Given the description of an element on the screen output the (x, y) to click on. 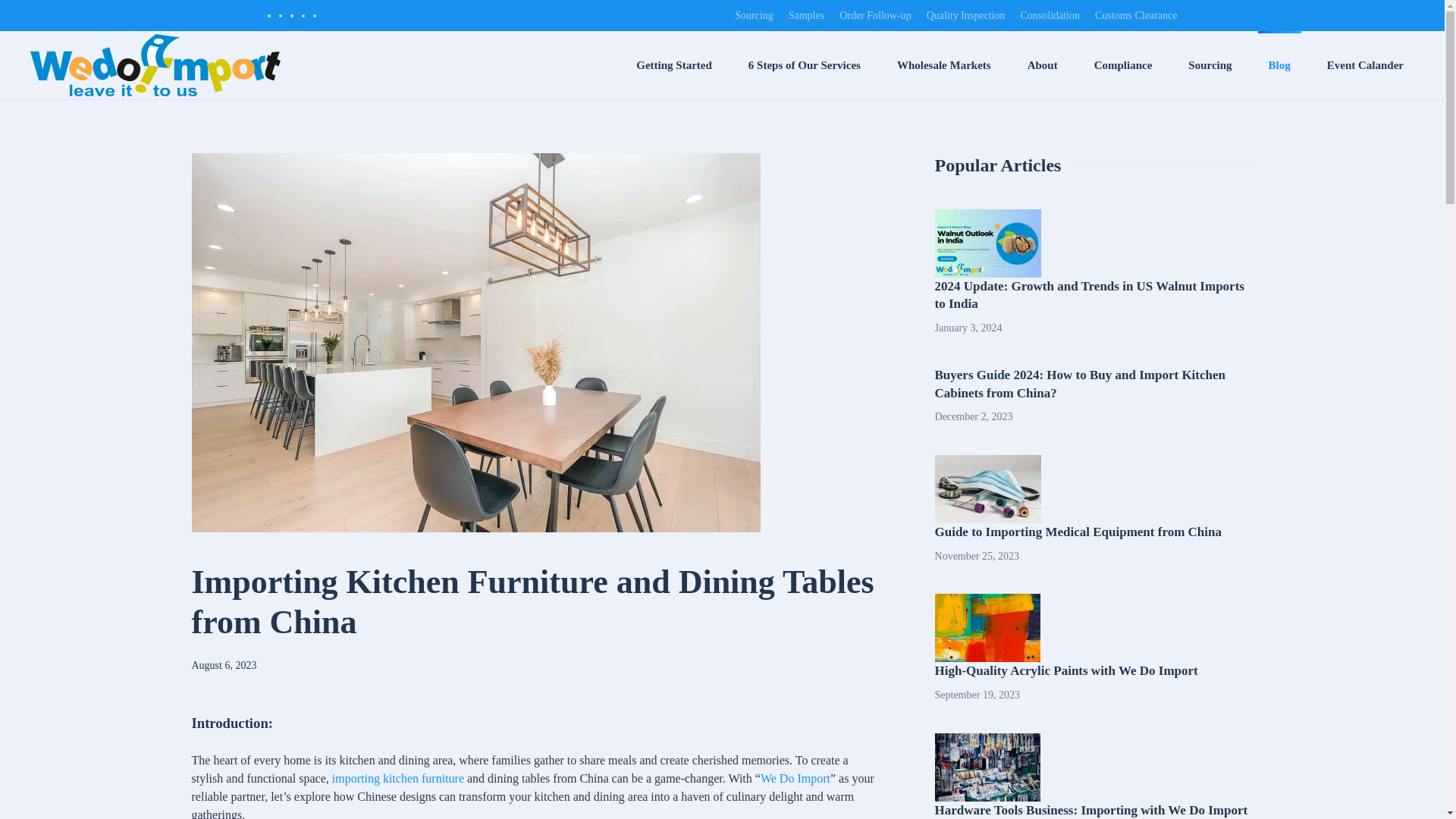
Importing Kitchen Furniture and Dining Tables from China 4 (987, 627)
Importing Kitchen Furniture and Dining Tables from China 3 (987, 489)
Importing Kitchen Furniture and Dining Tables from China 2 (987, 243)
Importing Kitchen Furniture and Dining Tables from China 5 (987, 767)
